Given the description of an element on the screen output the (x, y) to click on. 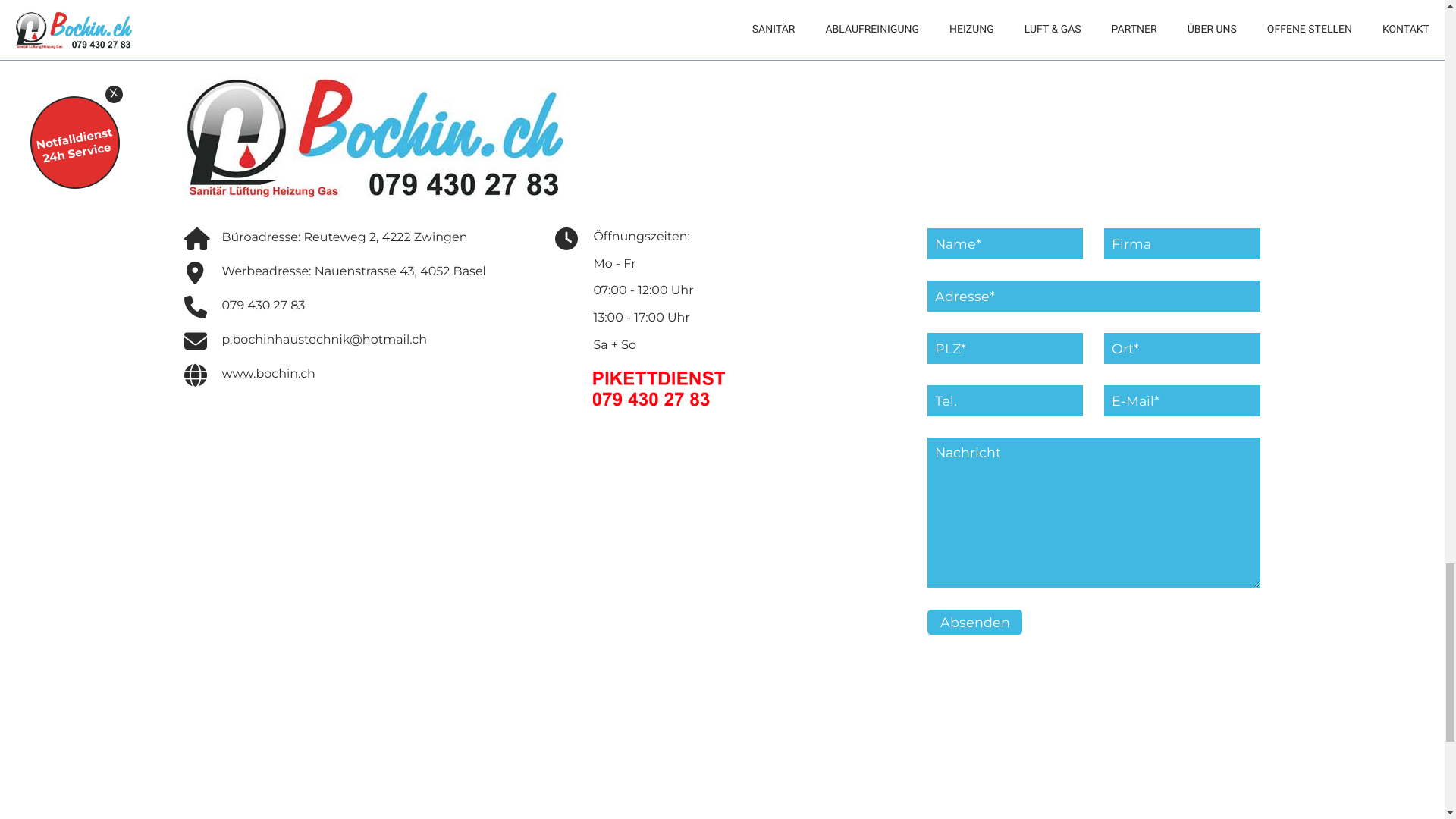
Kontakt Element type: text (231, 504)
